Given the description of an element on the screen output the (x, y) to click on. 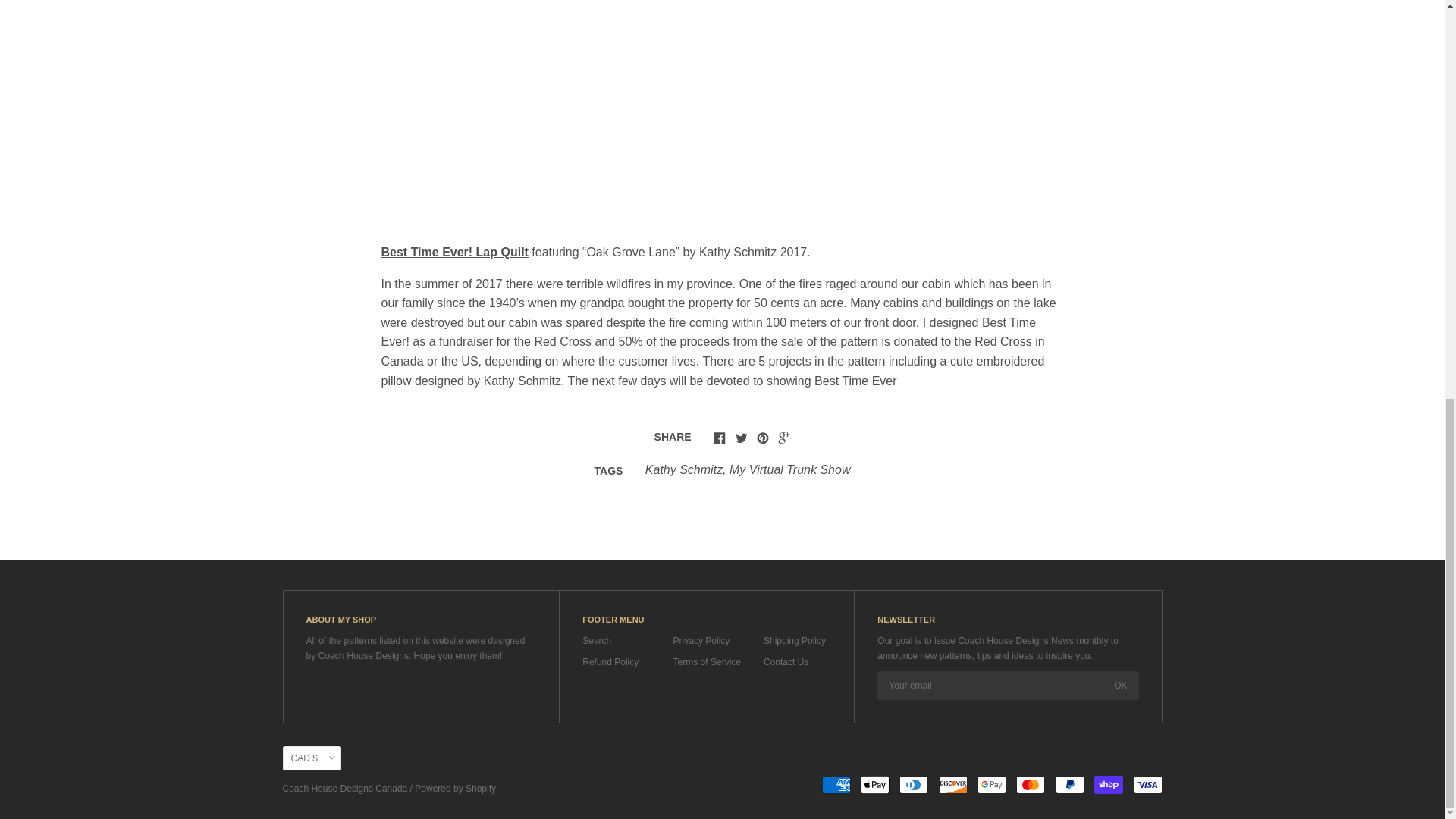
Diners Club (913, 784)
Apple Pay (874, 784)
Facebook (719, 437)
Discover (953, 784)
Mastercard (1030, 784)
PayPal (1069, 784)
American Express (836, 784)
Google Pay (991, 784)
Twitter (741, 437)
Shop Pay (1108, 784)
Pinterest (762, 437)
OK (1120, 685)
Visa (1146, 784)
Facebook (719, 439)
Twitter (741, 439)
